Given the description of an element on the screen output the (x, y) to click on. 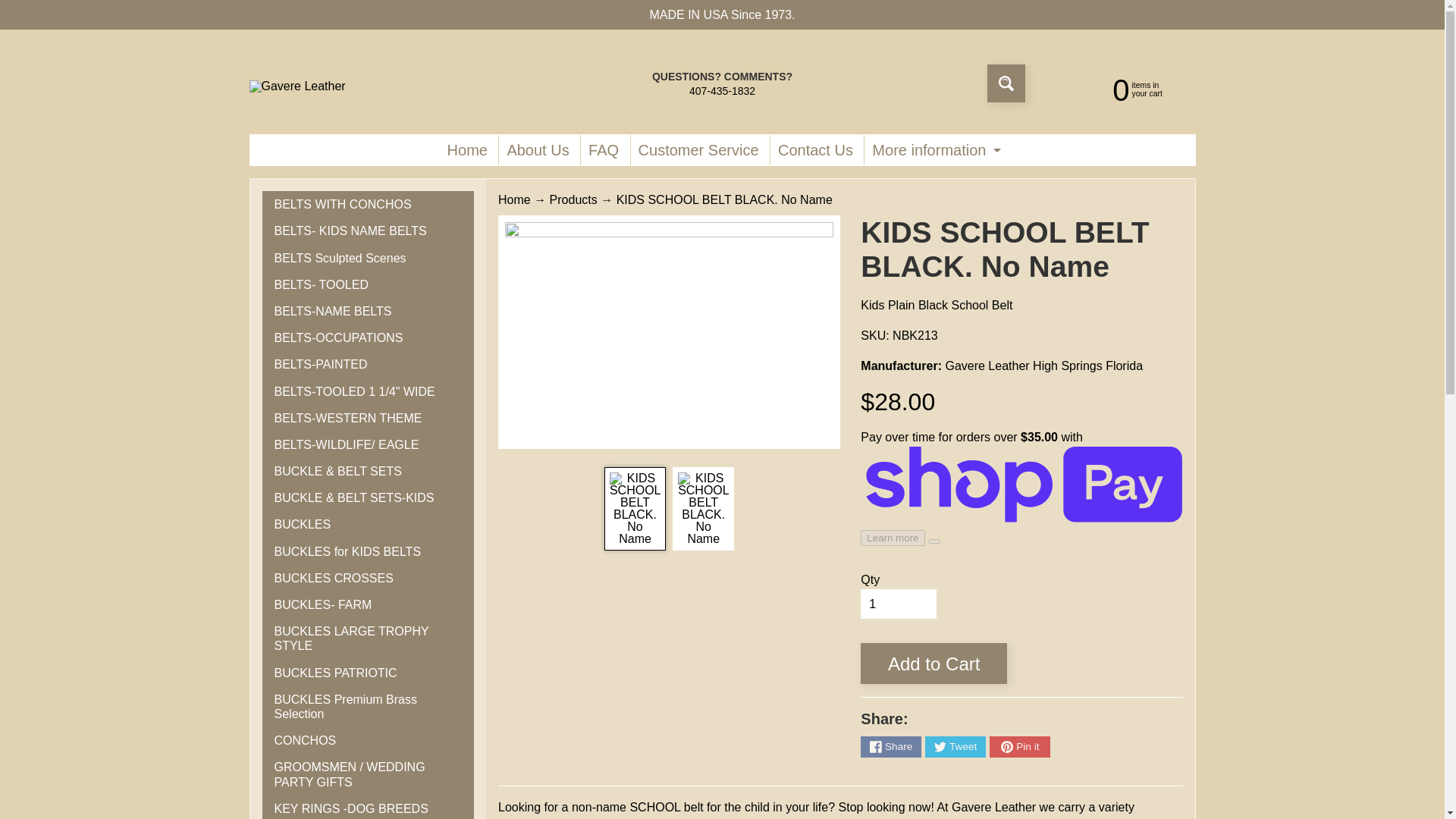
BUCKLES PATRIOTIC (368, 673)
Pin on Pinterest (1019, 746)
BELTS-WESTERN THEME (368, 417)
BELTS- KIDS NAME BELTS (368, 230)
BUCKLES LARGE TROPHY STYLE (368, 638)
Search (1006, 83)
Tweet on Twitter (954, 746)
BELTS- TOOLED (368, 284)
BUCKLES CROSSES (368, 578)
FAQ (603, 150)
BELTS-NAME BELTS (368, 311)
Search (1006, 83)
Back to the home page (514, 199)
Customer Service (698, 150)
Skip to content (22, 8)
